Given the description of an element on the screen output the (x, y) to click on. 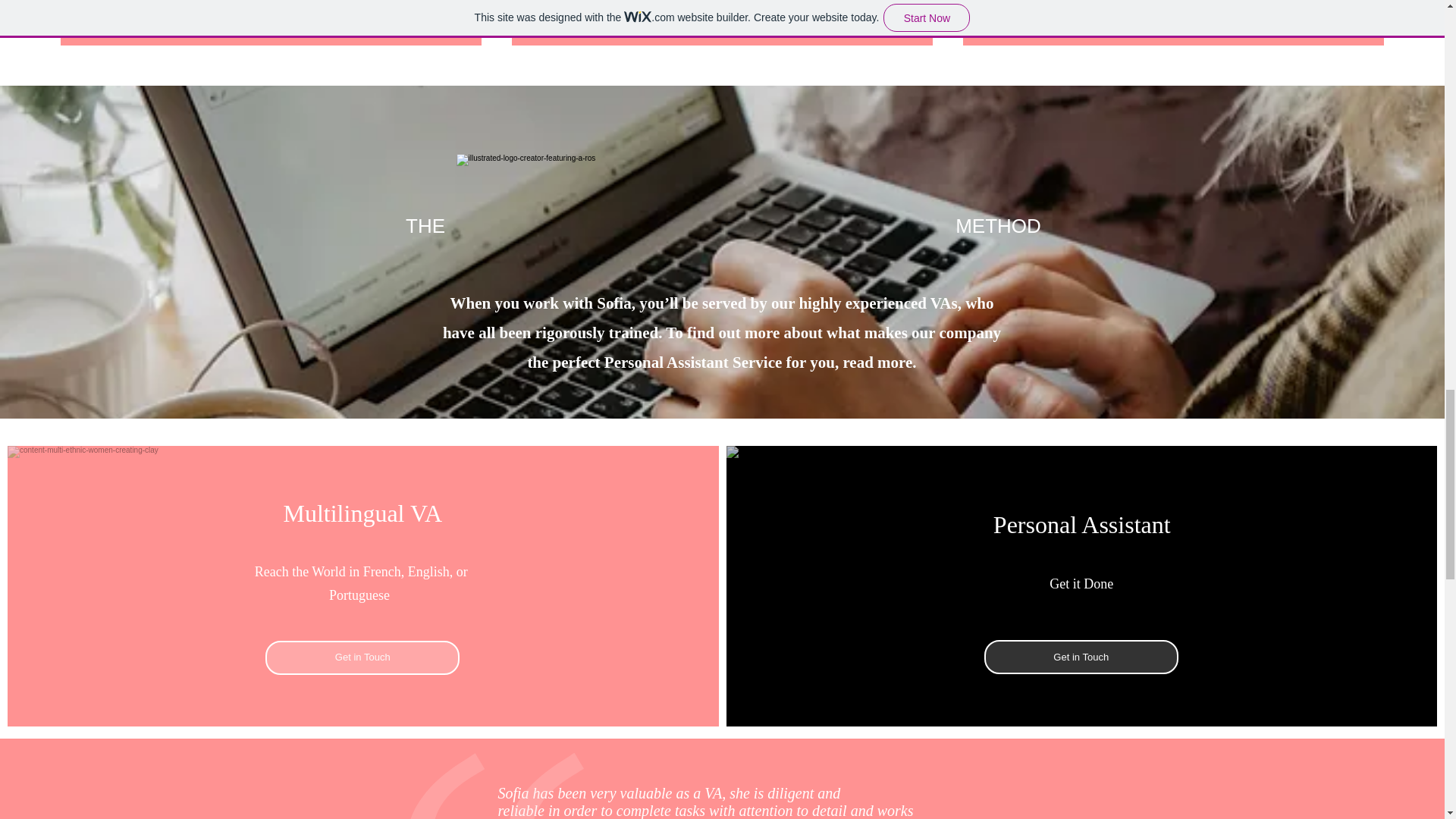
Get in Touch (1080, 656)
Get in Touch (362, 657)
